Given the description of an element on the screen output the (x, y) to click on. 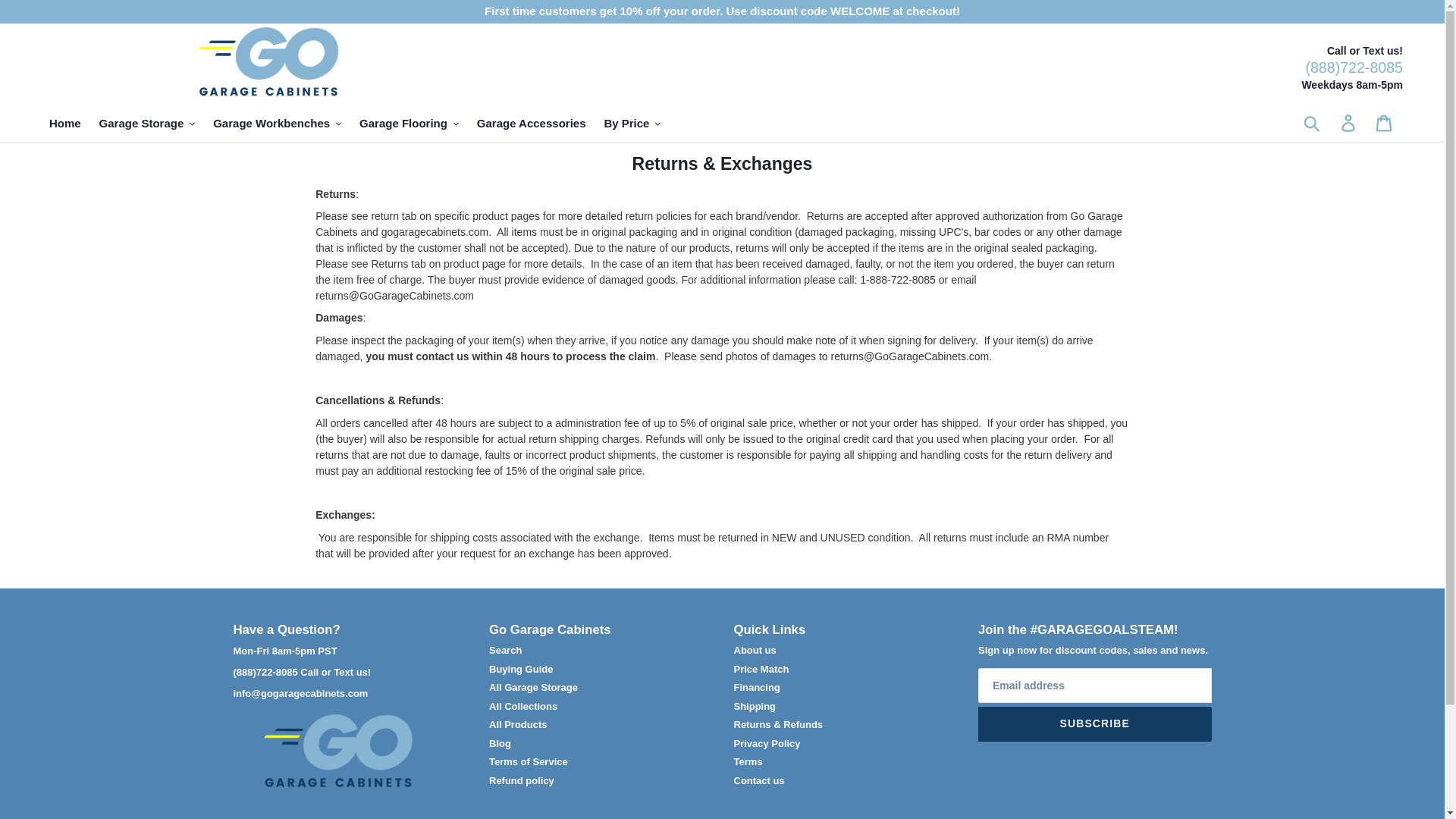
Home (65, 123)
Cart (1385, 123)
Garage Accessories (531, 123)
Submit (1313, 123)
Log in (1349, 123)
